Given the description of an element on the screen output the (x, y) to click on. 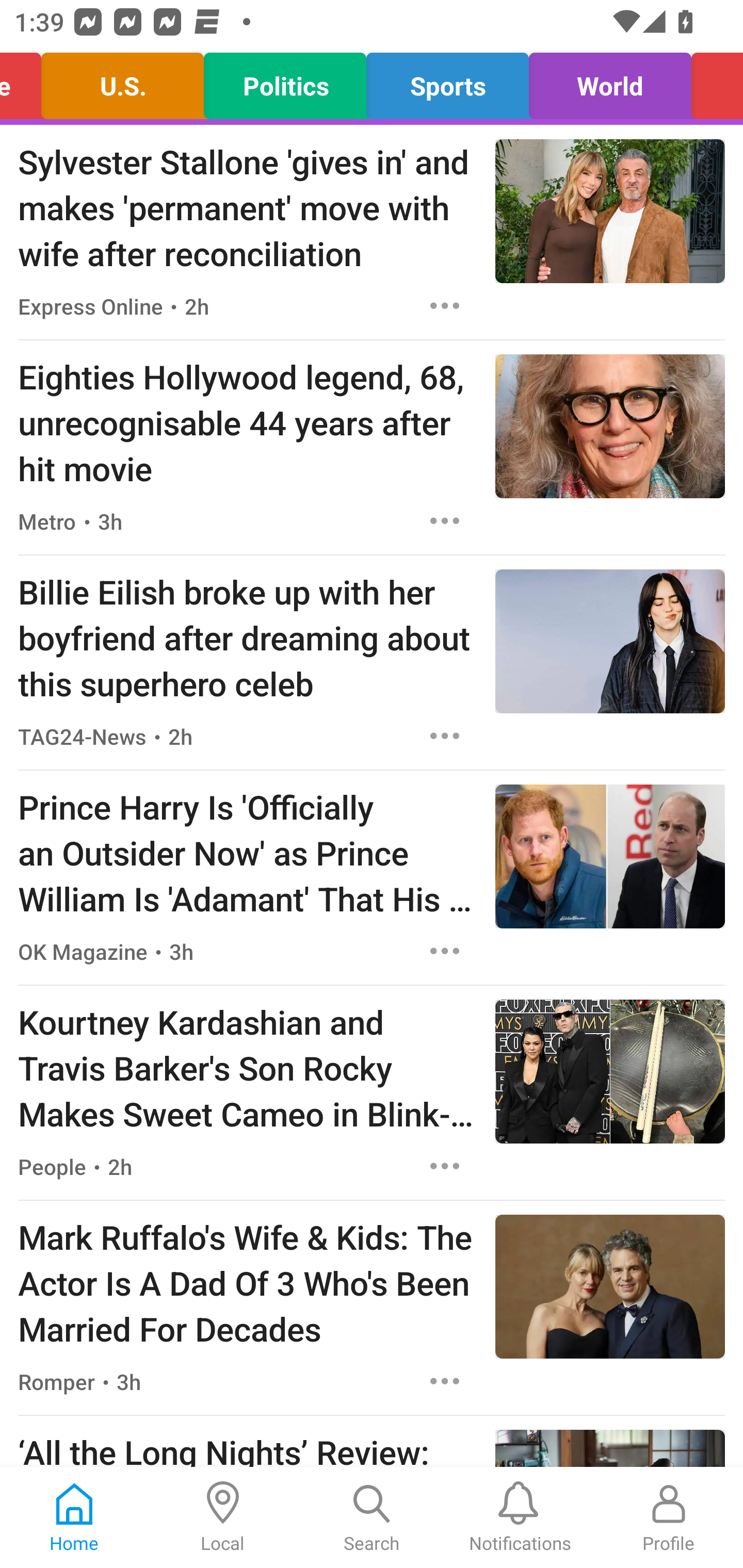
U.S. (122, 81)
Politics (285, 81)
Sports (447, 81)
World (609, 81)
Options (444, 305)
Options (444, 520)
Options (444, 736)
Options (444, 950)
Options (444, 1166)
Options (444, 1381)
Local (222, 1517)
Search (371, 1517)
Notifications (519, 1517)
Profile (668, 1517)
